Given the description of an element on the screen output the (x, y) to click on. 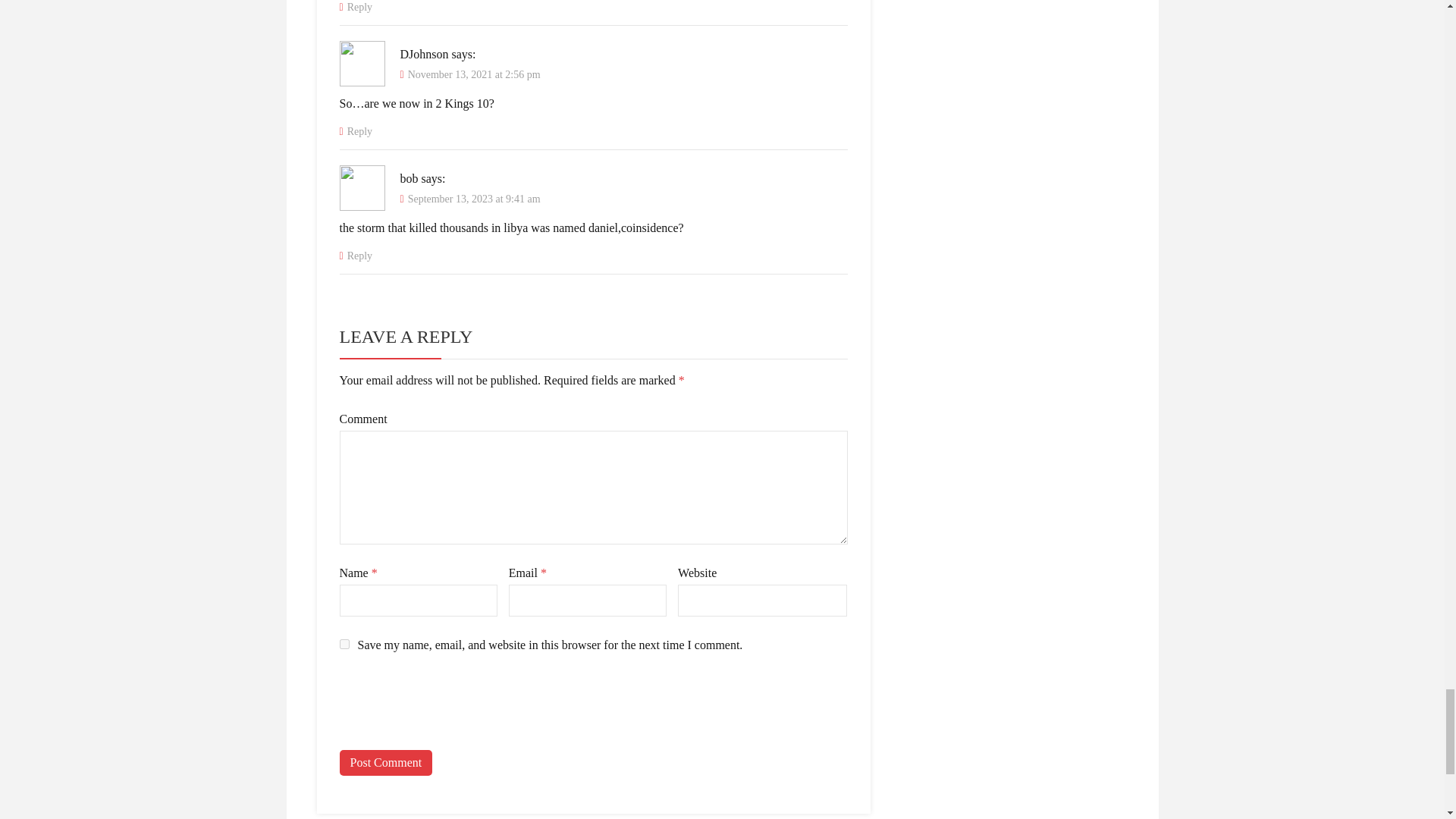
Post Comment (385, 762)
yes (344, 644)
